Given the description of an element on the screen output the (x, y) to click on. 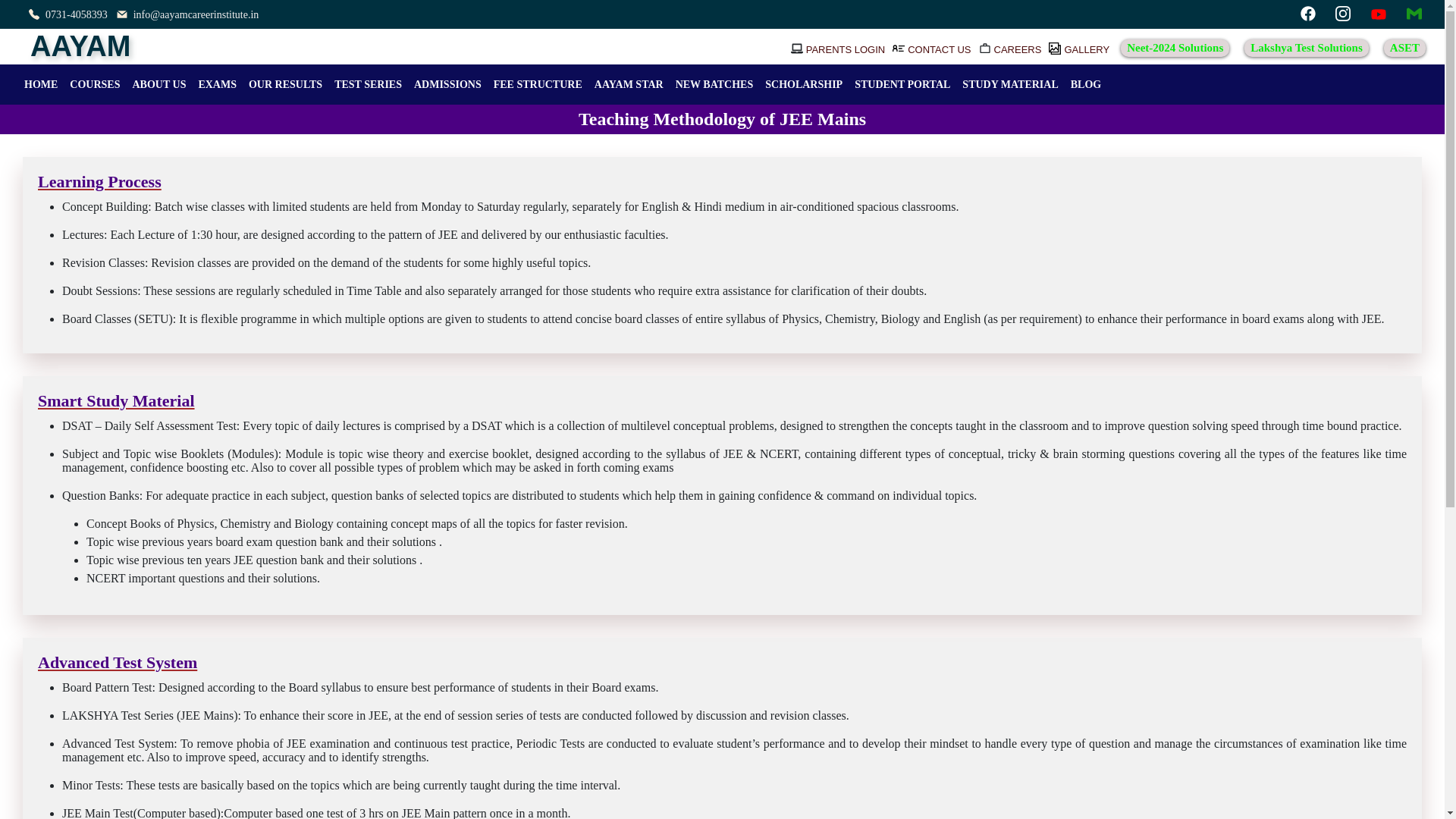
COURSES (94, 84)
AAYAM STAR (628, 84)
FEE STRUCTURE (537, 84)
ASET (1404, 47)
OUR RESULTS (286, 84)
BLOG (1085, 84)
CONTACT US (939, 49)
ABOUT US (158, 84)
ADMISSIONS (447, 84)
Neet-2024 Solutions (1174, 47)
